Given the description of an element on the screen output the (x, y) to click on. 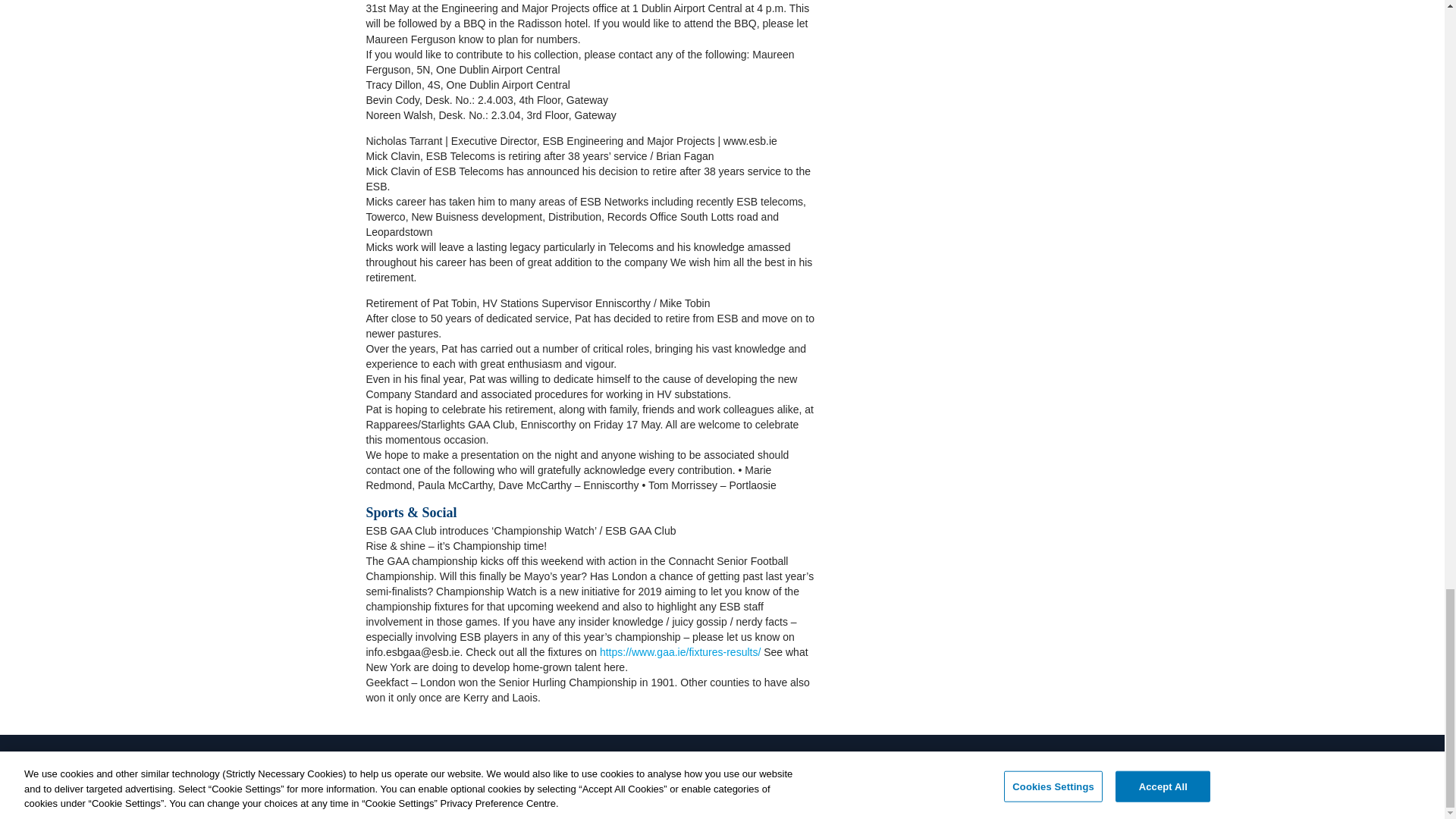
Copyright (488, 780)
Privacy (375, 780)
Cookie Settings (559, 780)
Disclaimer (428, 780)
